Given the description of an element on the screen output the (x, y) to click on. 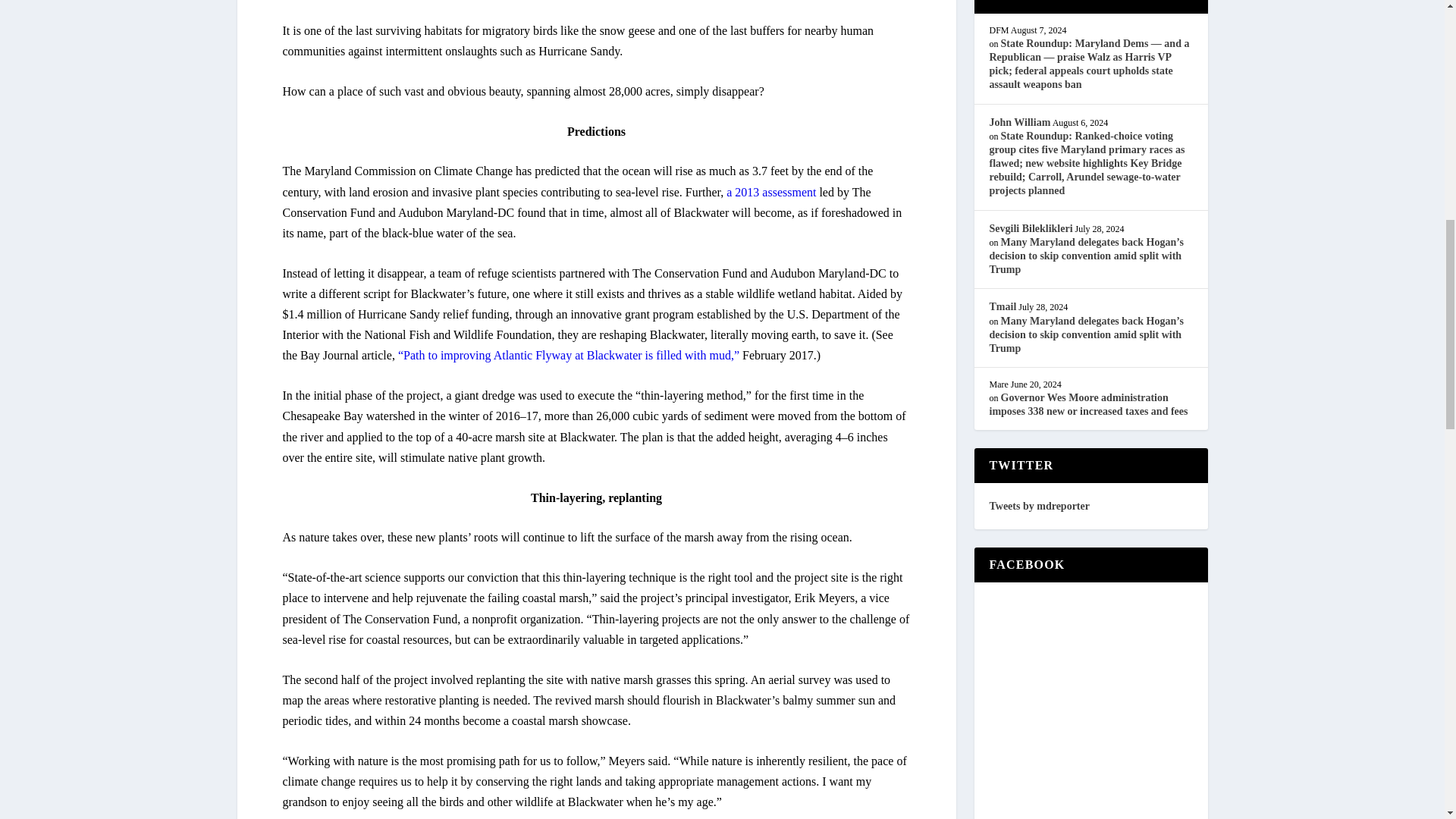
a 2013 assessment (770, 192)
John William (1018, 122)
